Given the description of an element on the screen output the (x, y) to click on. 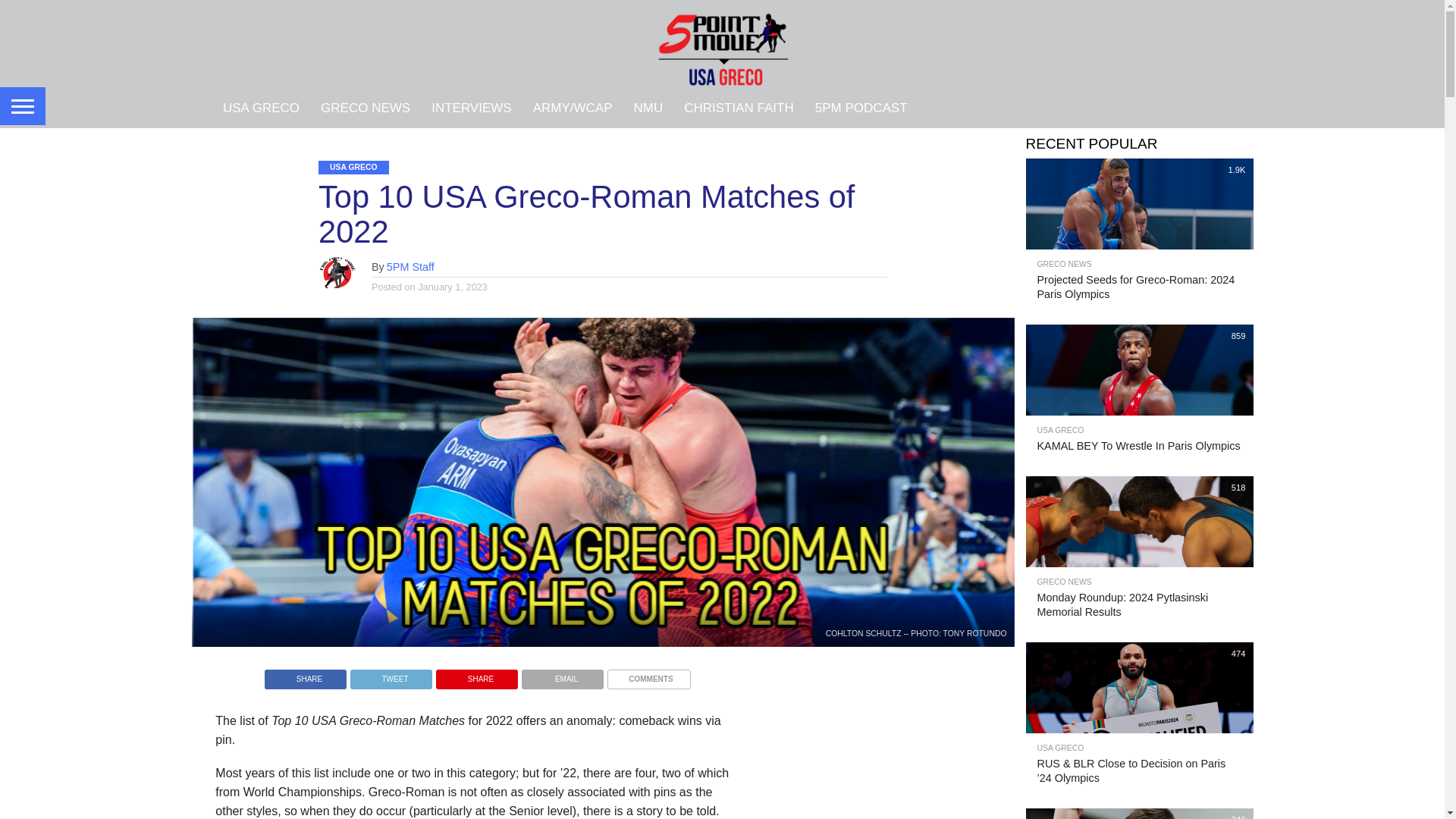
GRECO NEWS (365, 106)
COMMENTS (648, 675)
CHRISTIAN FAITH (738, 106)
SHARE (305, 675)
Pin This Post (476, 675)
5PM Staff (410, 266)
USA GRECO (261, 106)
EMAIL (562, 675)
Tweet This Post (390, 675)
SHARE (476, 675)
INTERVIEWS (470, 106)
Share on Facebook (305, 675)
Posts by 5PM Staff (410, 266)
TWEET (390, 675)
NMU (647, 106)
